Given the description of an element on the screen output the (x, y) to click on. 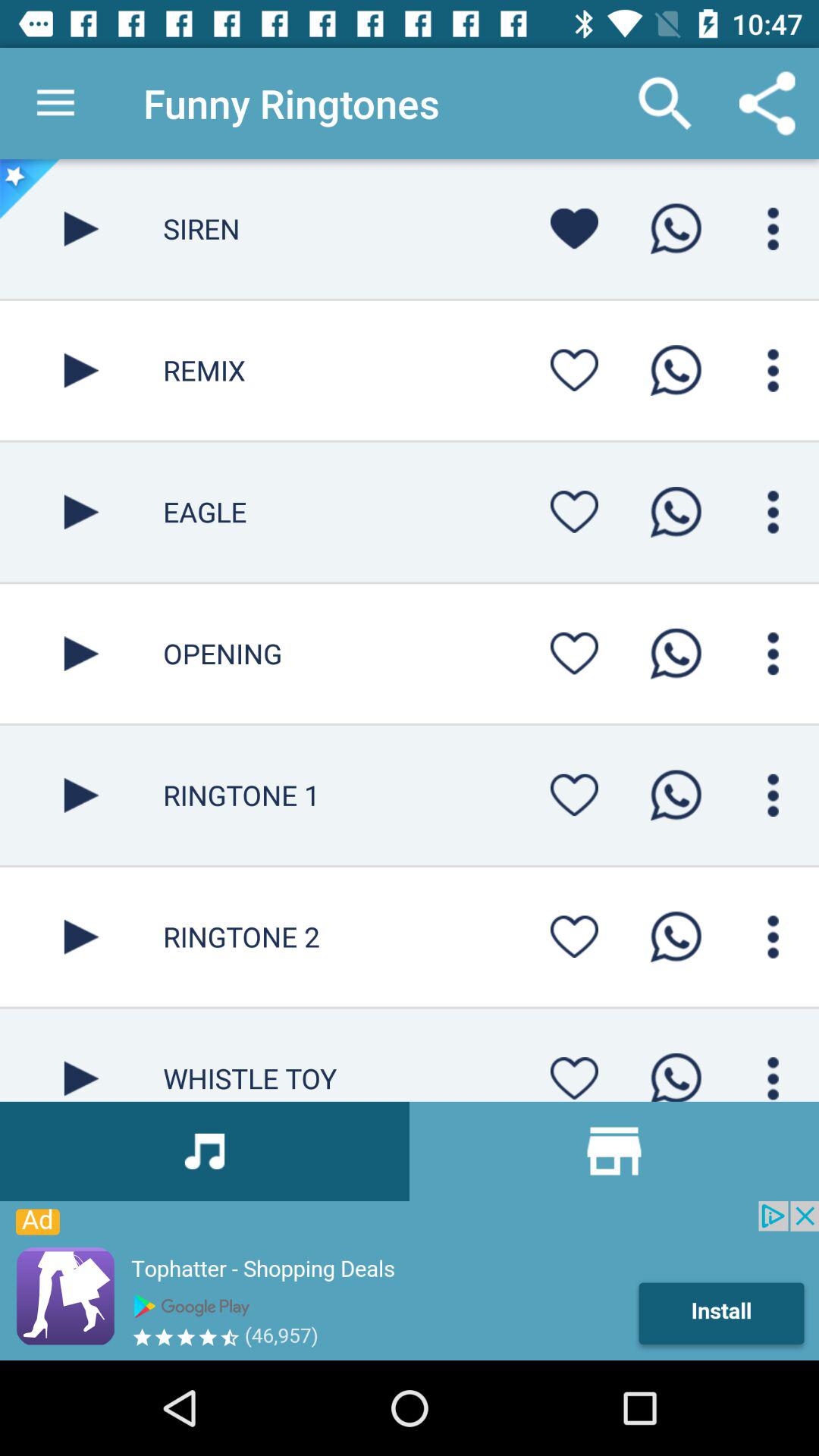
add to favorites (574, 511)
